Given the description of an element on the screen output the (x, y) to click on. 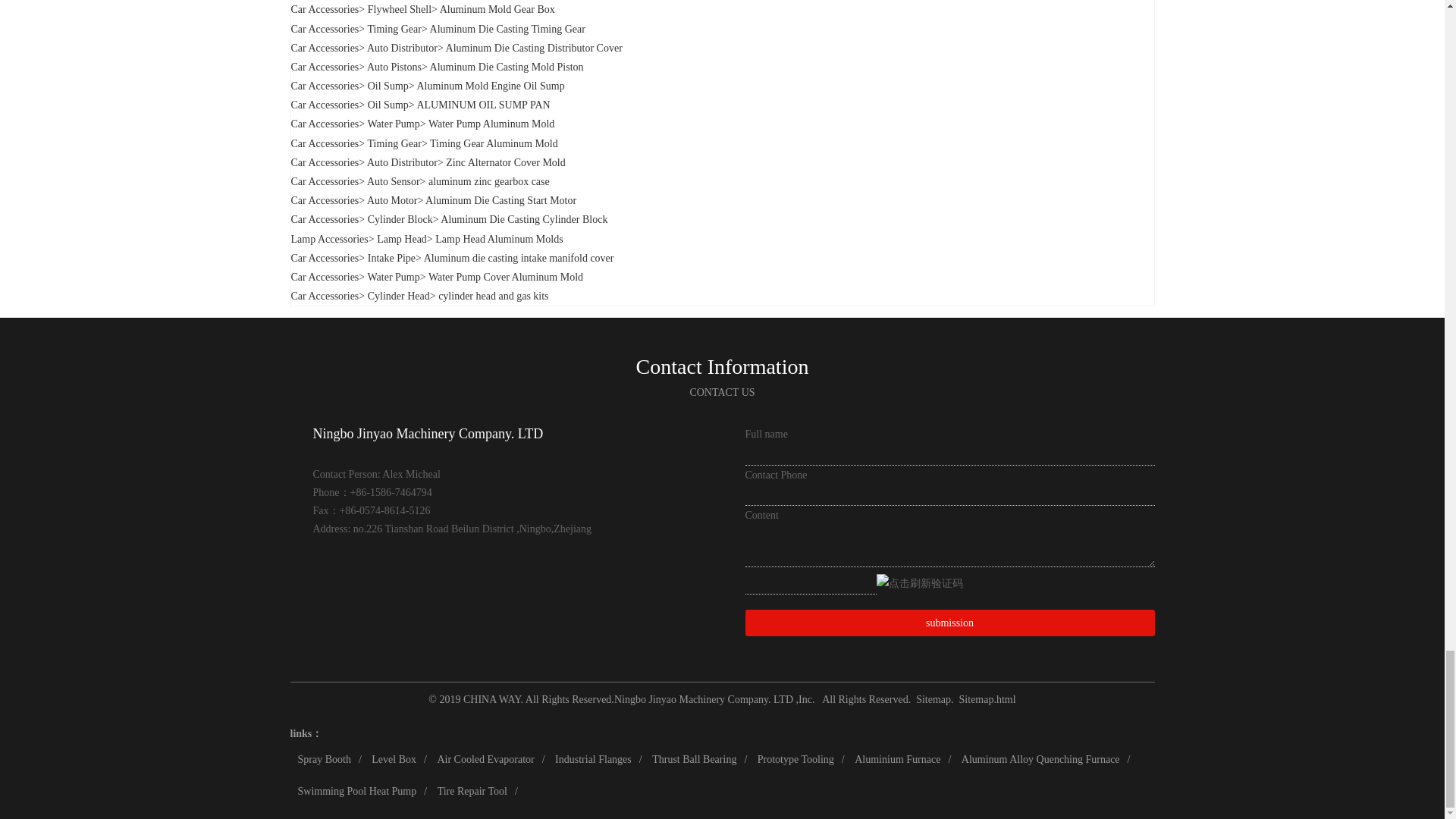
submission (949, 622)
